Given the description of an element on the screen output the (x, y) to click on. 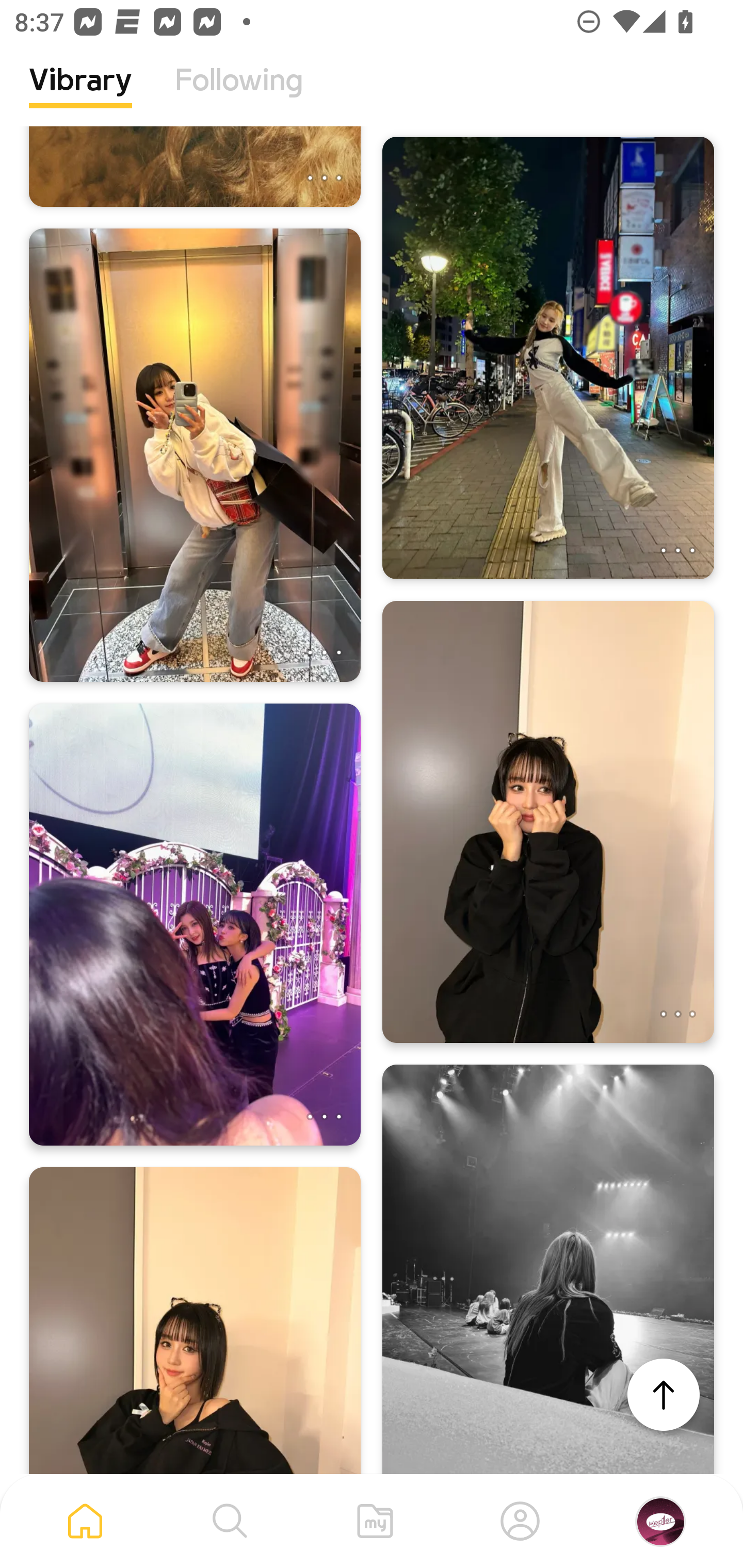
Vibrary (80, 95)
Following (239, 95)
